Given the description of an element on the screen output the (x, y) to click on. 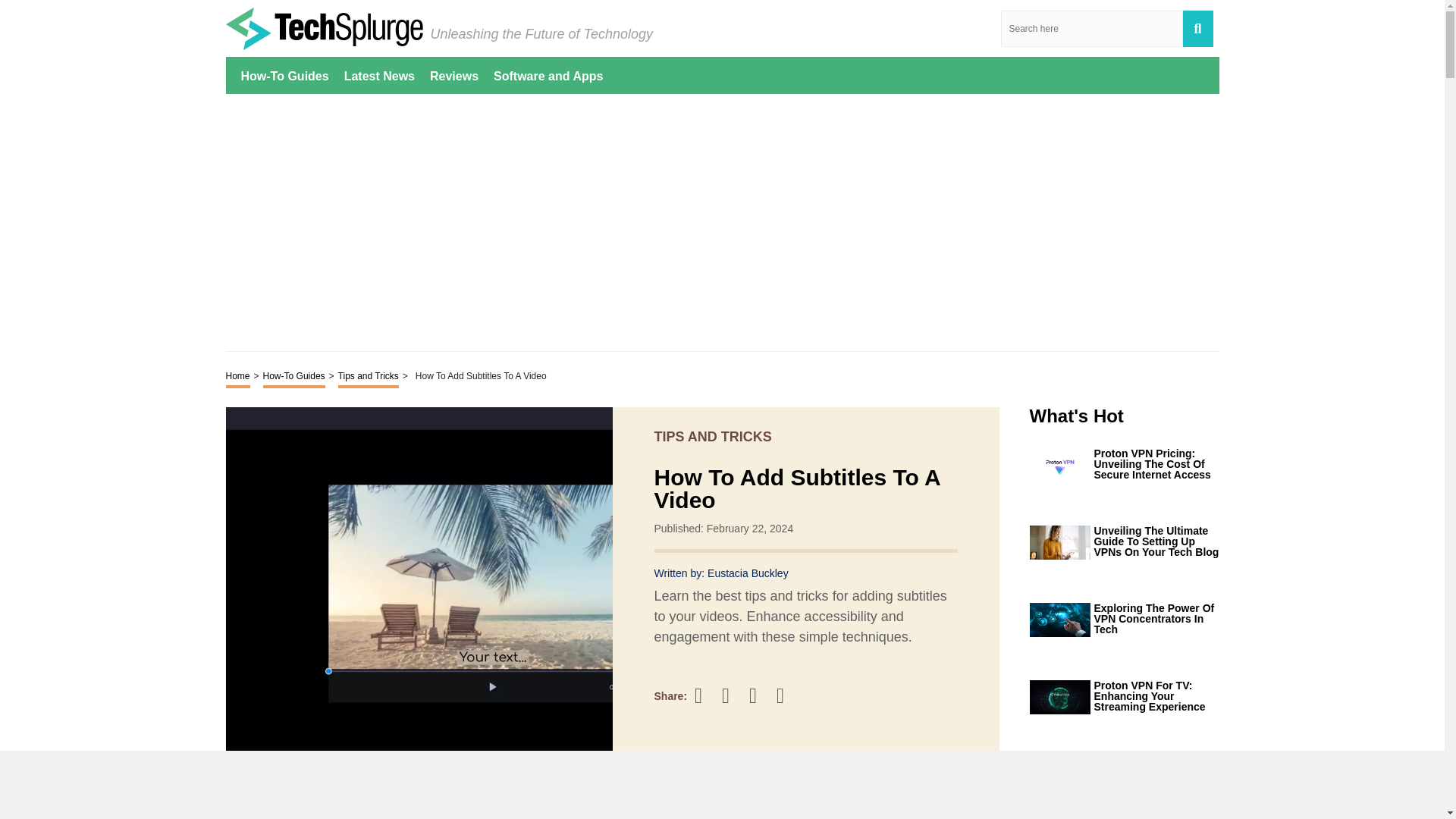
Latest News (378, 74)
Tips and Tricks (367, 377)
Share on Pinterest (759, 695)
How-To Guides (285, 74)
Reviews (454, 74)
How-To Guides (293, 377)
Subtitle (252, 809)
Home (237, 377)
Eustacia Buckley (748, 573)
Share on WhatsApp (786, 695)
Share on Twitter (732, 695)
Share on Facebook (705, 695)
Software and Apps (547, 74)
